Given the description of an element on the screen output the (x, y) to click on. 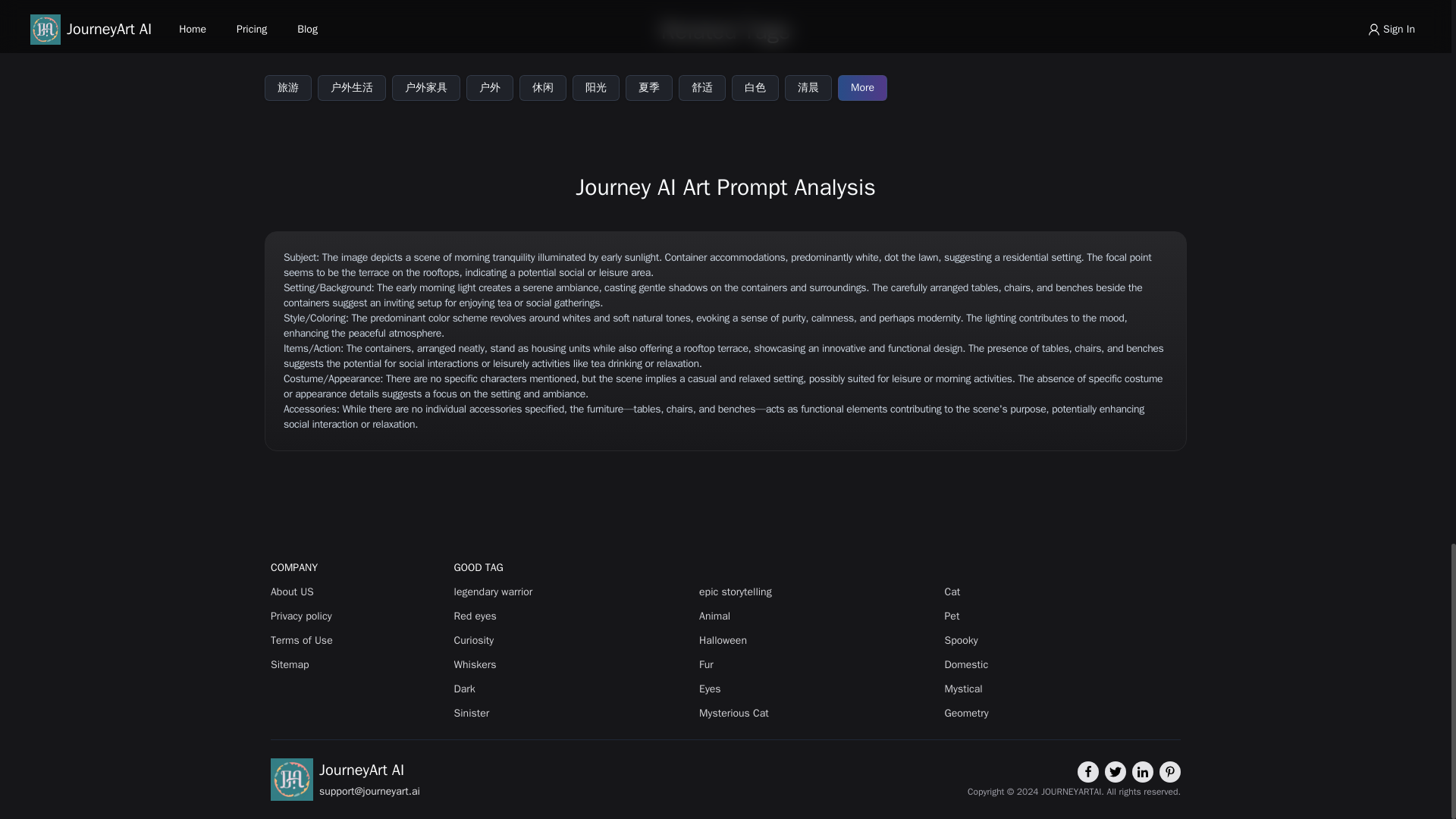
Domestic (1062, 664)
Mystical (1062, 688)
Fur (816, 664)
Halloween (816, 640)
About US (359, 591)
Whiskers (572, 664)
epic storytelling (816, 591)
About US (359, 591)
Sitemap (359, 664)
Privacy policy (359, 616)
